Given the description of an element on the screen output the (x, y) to click on. 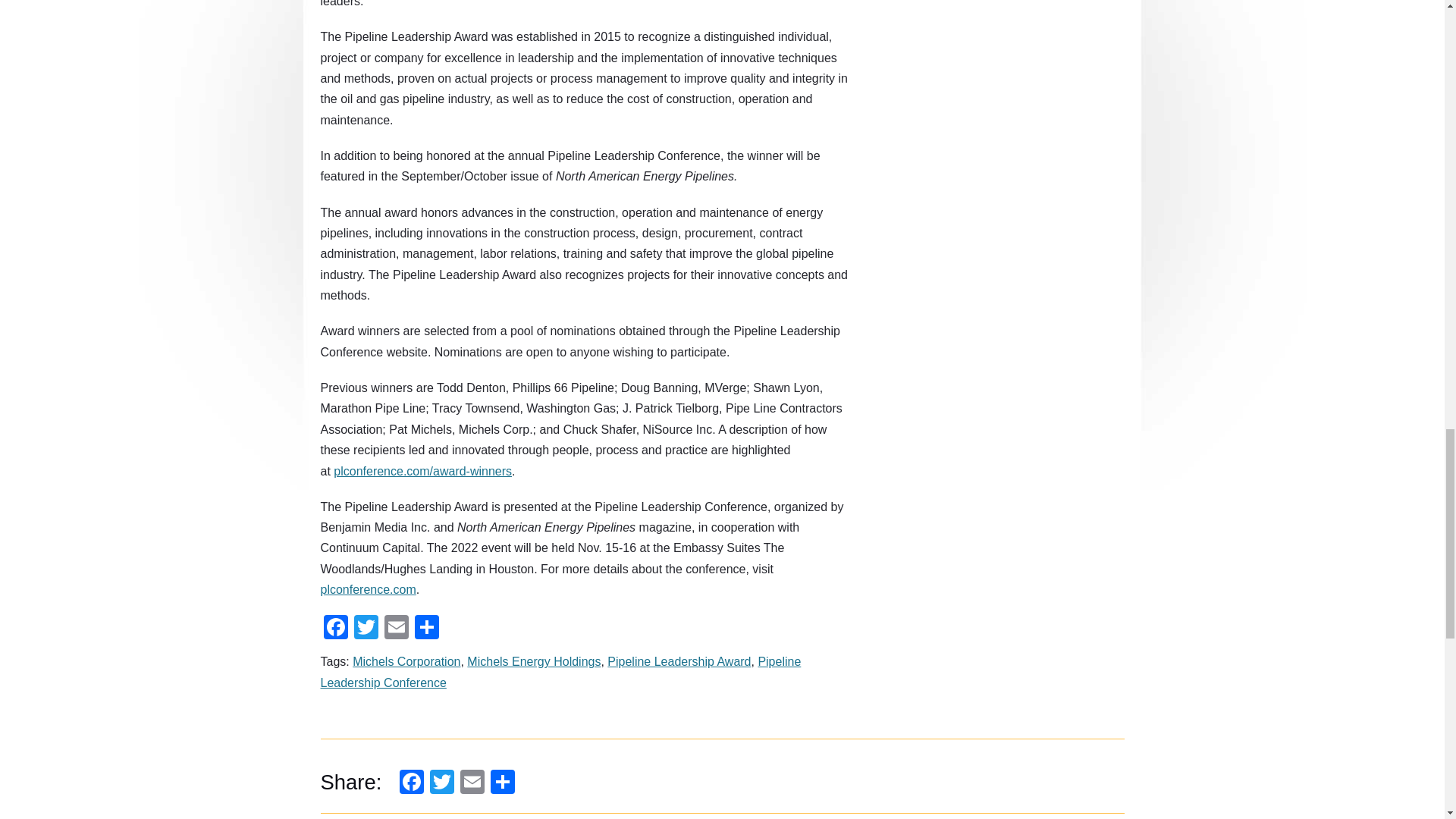
plconference.com (367, 589)
Michels Energy Holdings (533, 661)
Email (395, 627)
Email (472, 781)
Pipeline Leadership Award (679, 661)
Twitter (365, 627)
Email (395, 627)
Michels Corporation (406, 661)
Facebook (335, 627)
Pipeline Leadership Conference (560, 671)
